Given the description of an element on the screen output the (x, y) to click on. 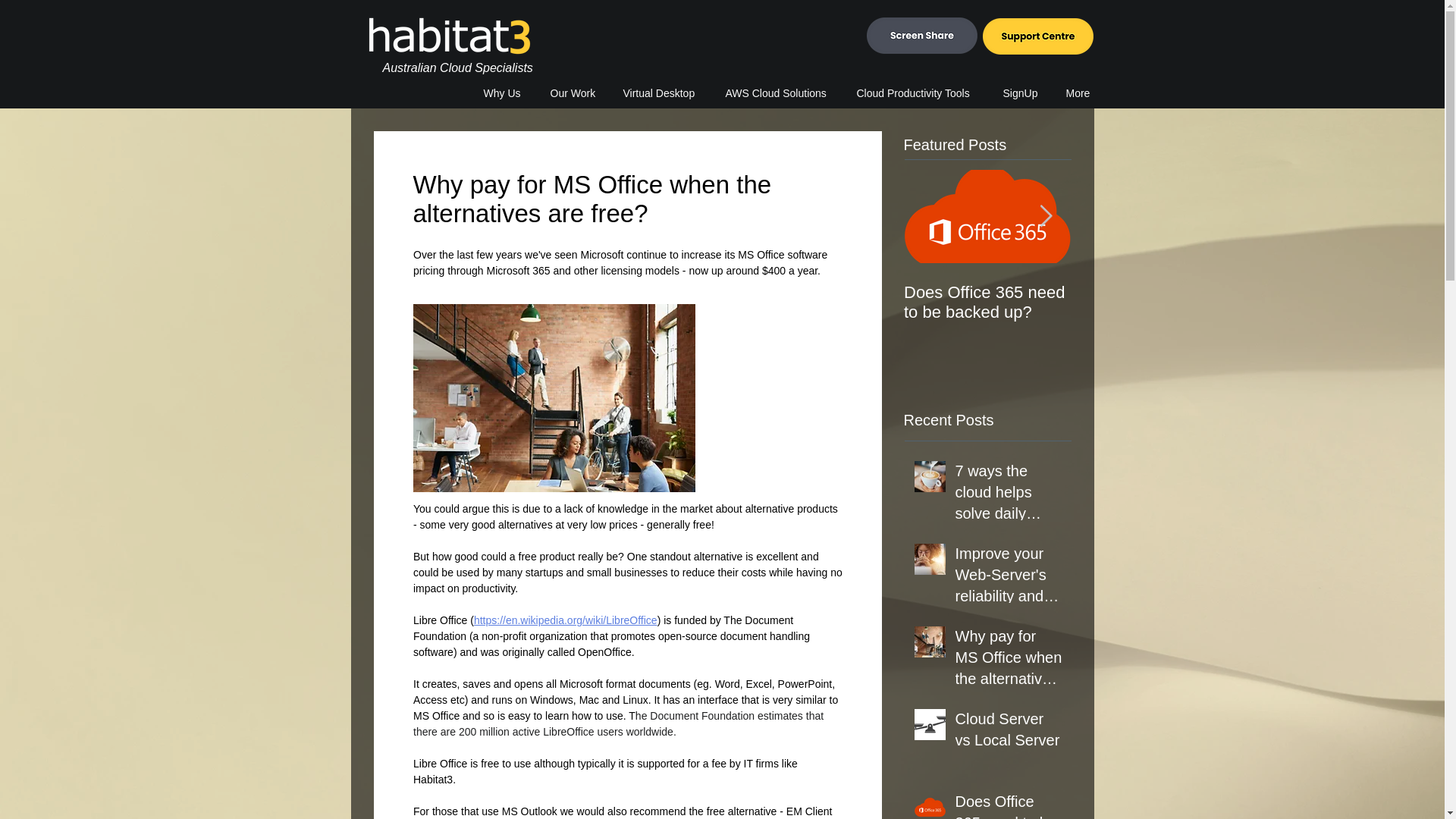
Cloud Productivity Tools (917, 93)
SignUp (1022, 93)
Our Work (574, 93)
Support Centre Button.png (1037, 36)
Screenshare Button.png (921, 35)
AWS Cloud Solutions (779, 93)
Virtual Desktop (662, 93)
Why Us (1052, 42)
Does Office 365 need to be backed up? (504, 93)
